Given the description of an element on the screen output the (x, y) to click on. 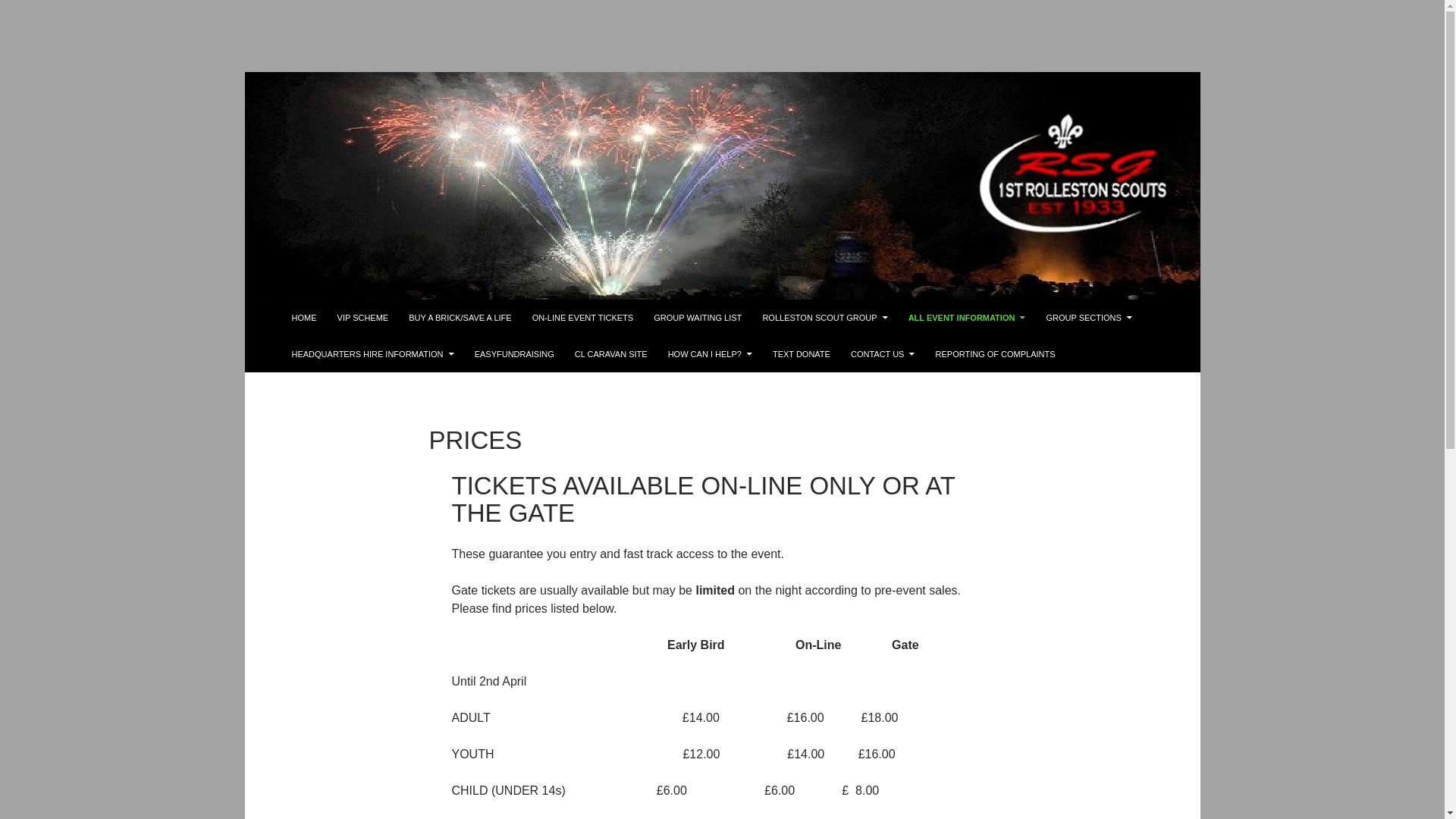
HOME (303, 317)
GROUP SECTIONS (1088, 317)
ON-LINE EVENT TICKETS (582, 317)
GROUP WAITING LIST (698, 317)
ROLLESTON SCOUT GROUP (824, 317)
ALL EVENT INFORMATION (967, 317)
Rolleston Scout Group (340, 317)
VIP SCHEME (363, 317)
